Given the description of an element on the screen output the (x, y) to click on. 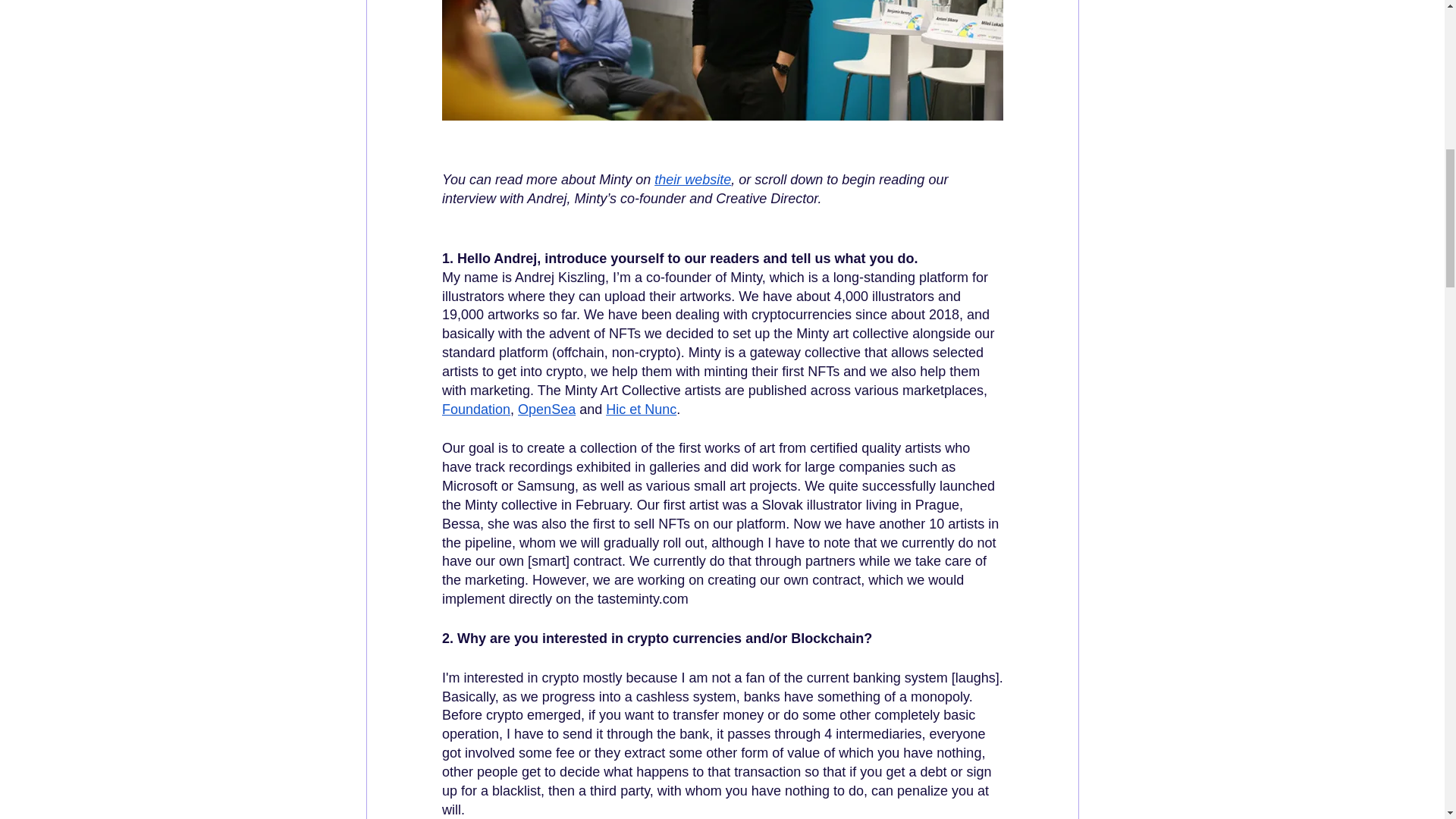
Foundation (475, 409)
Hic et Nunc (641, 409)
their website (691, 179)
OpenSea (546, 409)
